Given the description of an element on the screen output the (x, y) to click on. 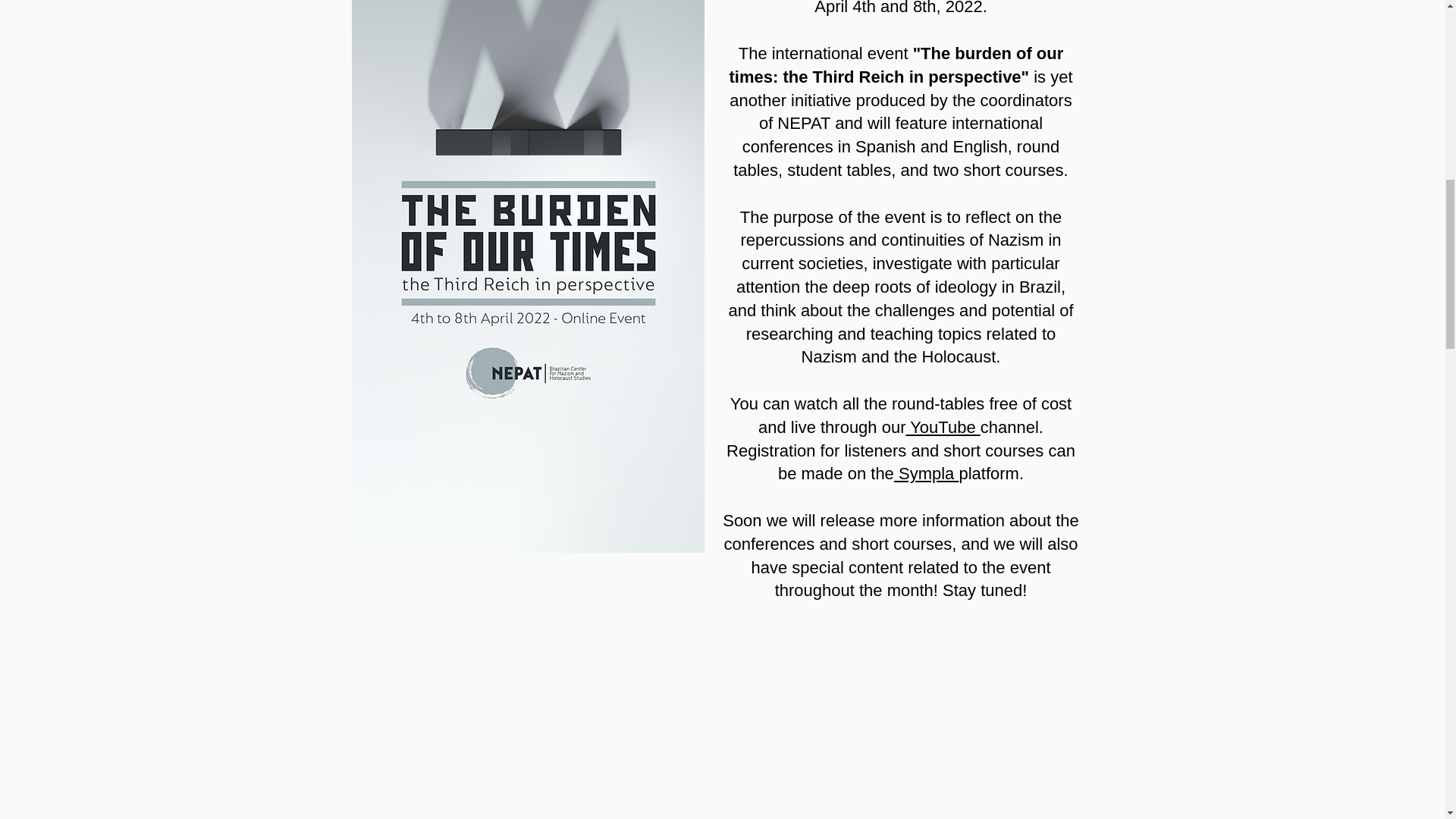
Sympla (926, 473)
YouTube (942, 426)
